Given the description of an element on the screen output the (x, y) to click on. 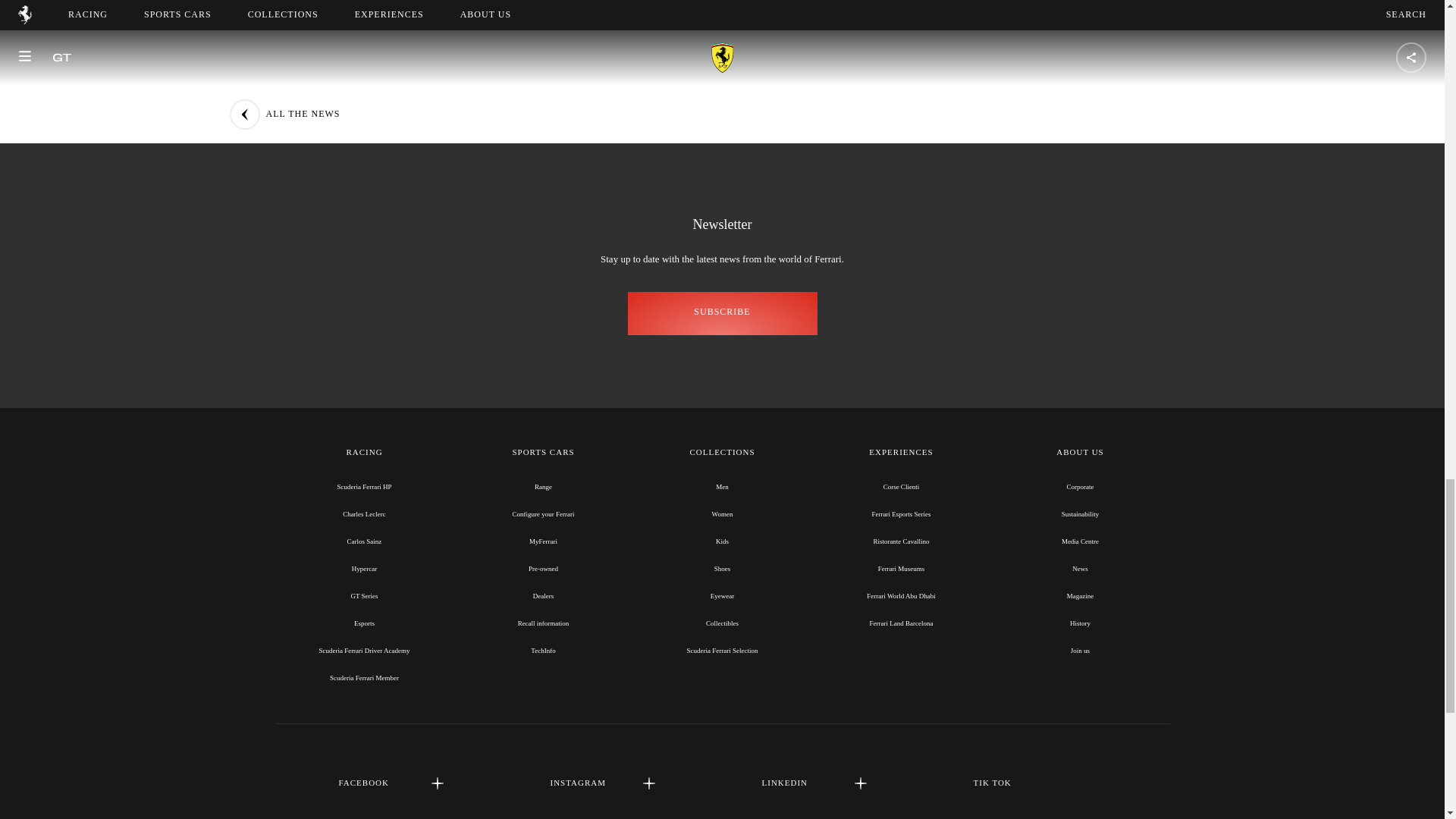
Scuderia Ferrari HP (363, 486)
Charles Leclerc (363, 513)
GT Series (363, 595)
Recall information (543, 623)
MyFerrari (543, 541)
Esports (363, 623)
Range (542, 486)
Pre-owned (542, 568)
Hypercar (364, 568)
Scuderia Ferrari Member (364, 677)
